Given the description of an element on the screen output the (x, y) to click on. 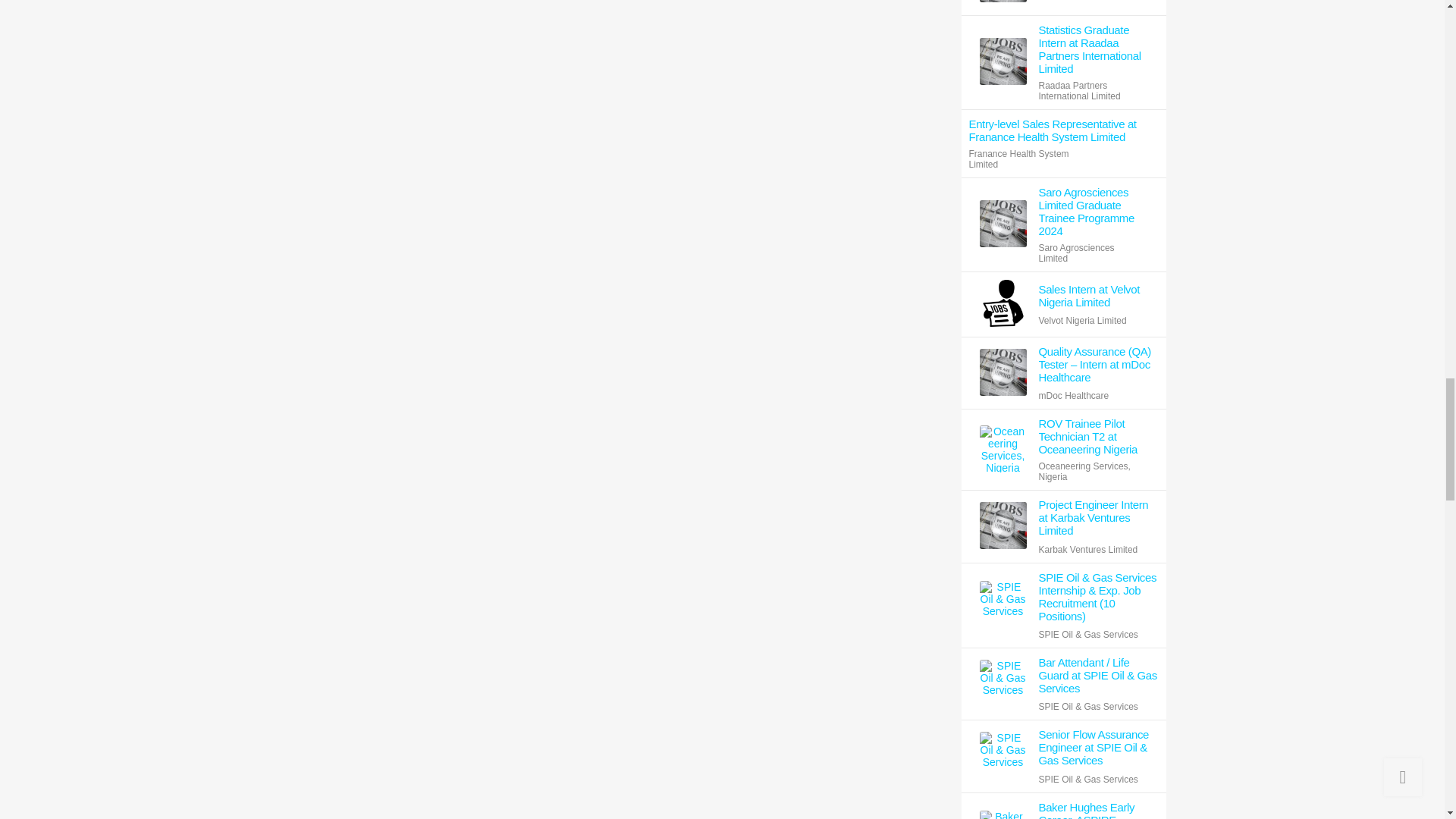
Project Engineer Intern at Karbak Ventures Limited (1098, 517)
Sales Intern at Velvot Nigeria Limited (1098, 295)
ROV Trainee Pilot Technician T2 at Oceaneering Nigeria (1098, 435)
Saro Agrosciences Limited Graduate Trainee Programme 2024 (1098, 211)
